Given the description of an element on the screen output the (x, y) to click on. 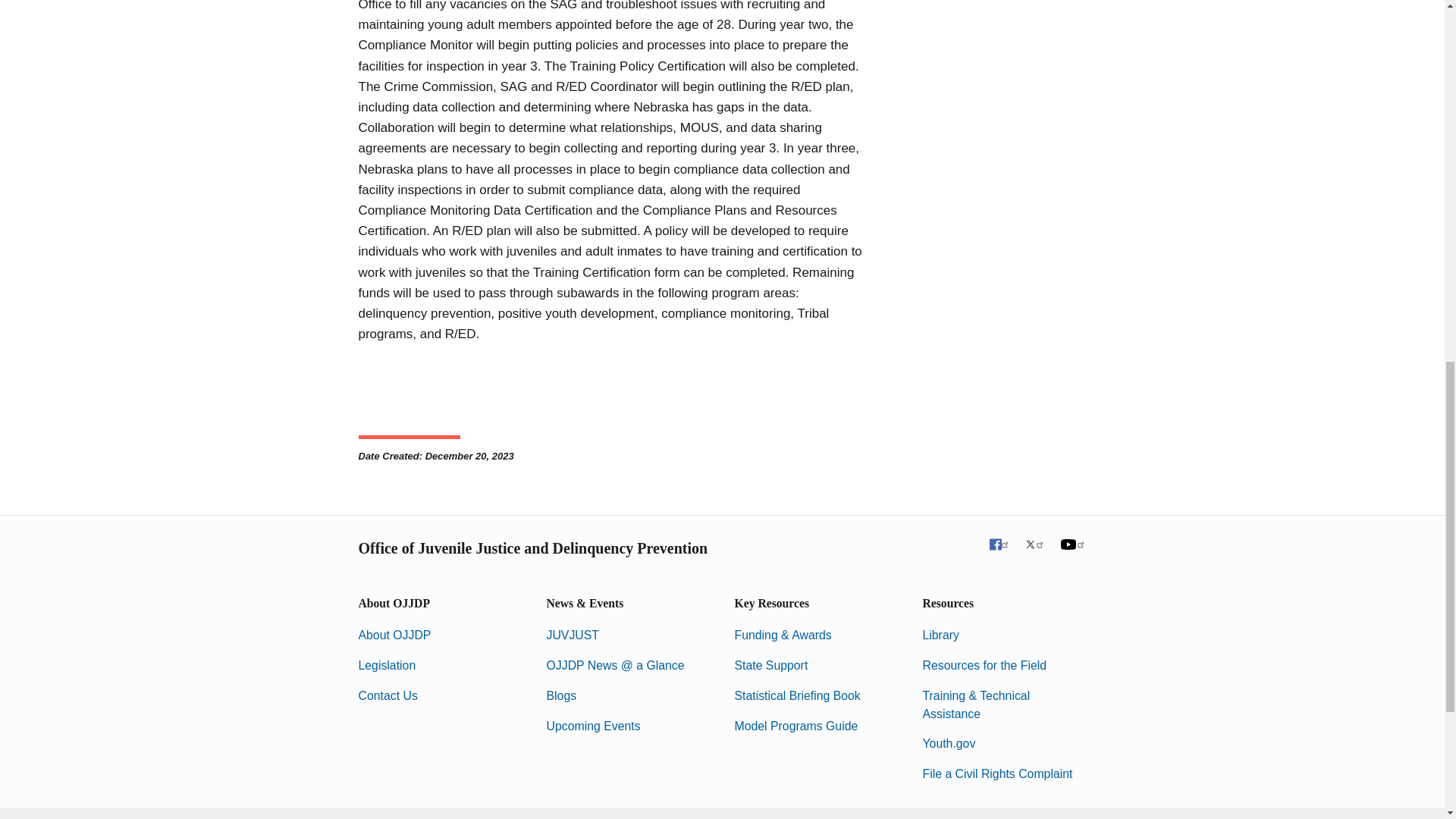
Legislation (386, 665)
Contact Us (387, 695)
About OJJDP (394, 634)
